Given the description of an element on the screen output the (x, y) to click on. 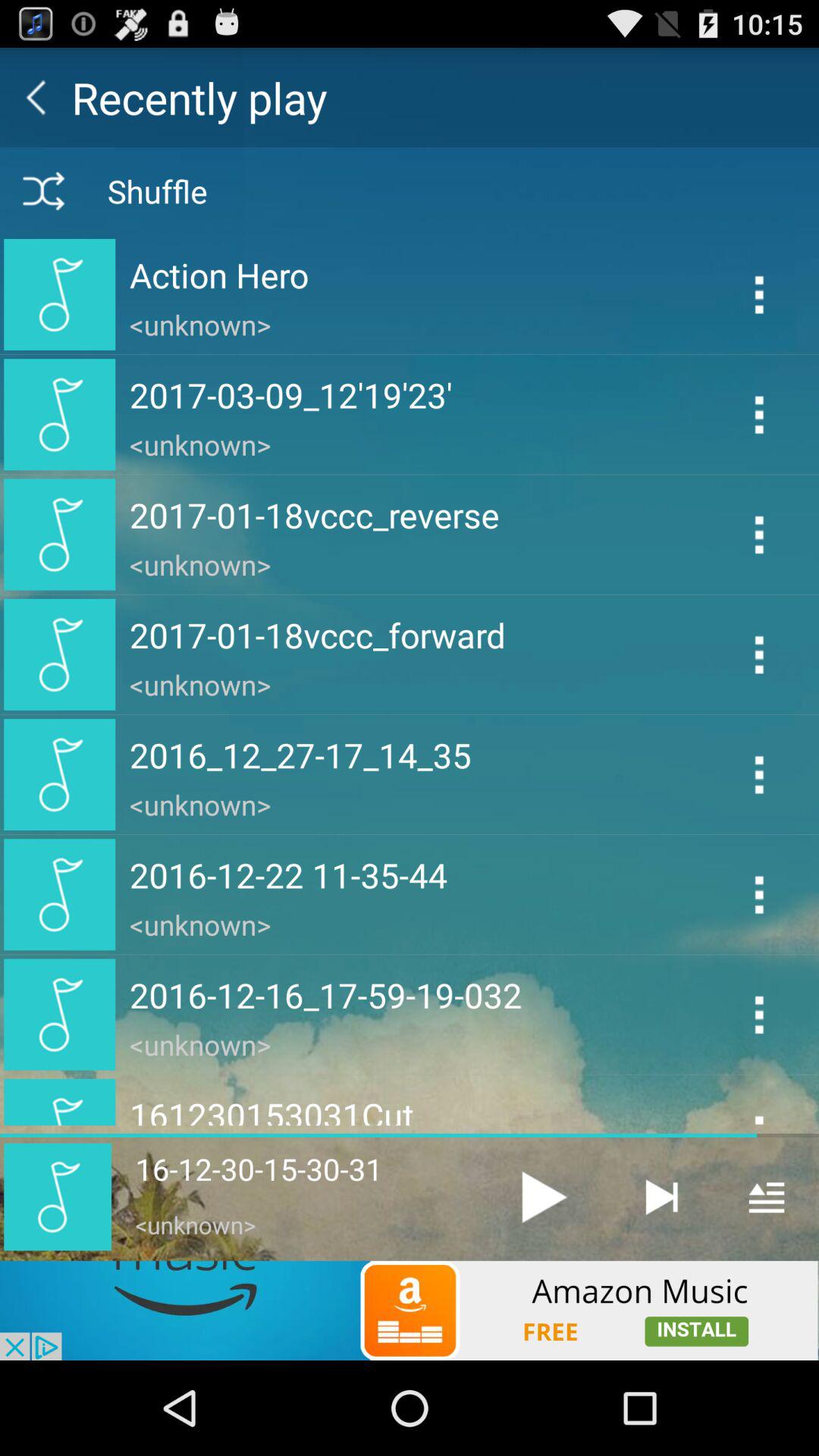
advertisement for free install of amazon music (409, 1310)
